Given the description of an element on the screen output the (x, y) to click on. 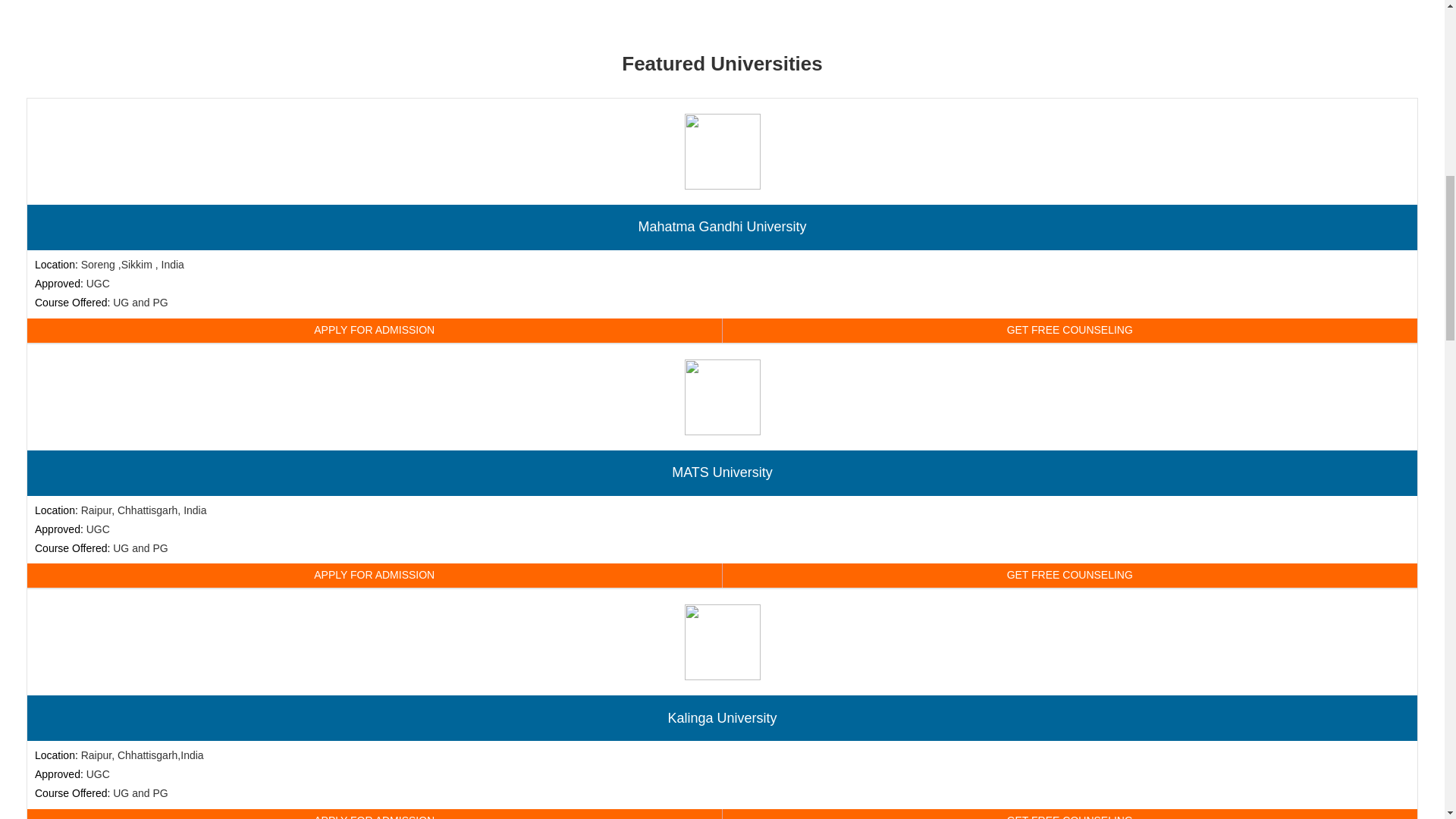
APPLY FOR ADMISSION (374, 814)
GET FREE COUNSELING (1069, 814)
GET FREE COUNSELING (1069, 575)
APPLY FOR ADMISSION (374, 330)
GET FREE COUNSELING (1069, 330)
APPLY FOR ADMISSION (374, 575)
